Given the description of an element on the screen output the (x, y) to click on. 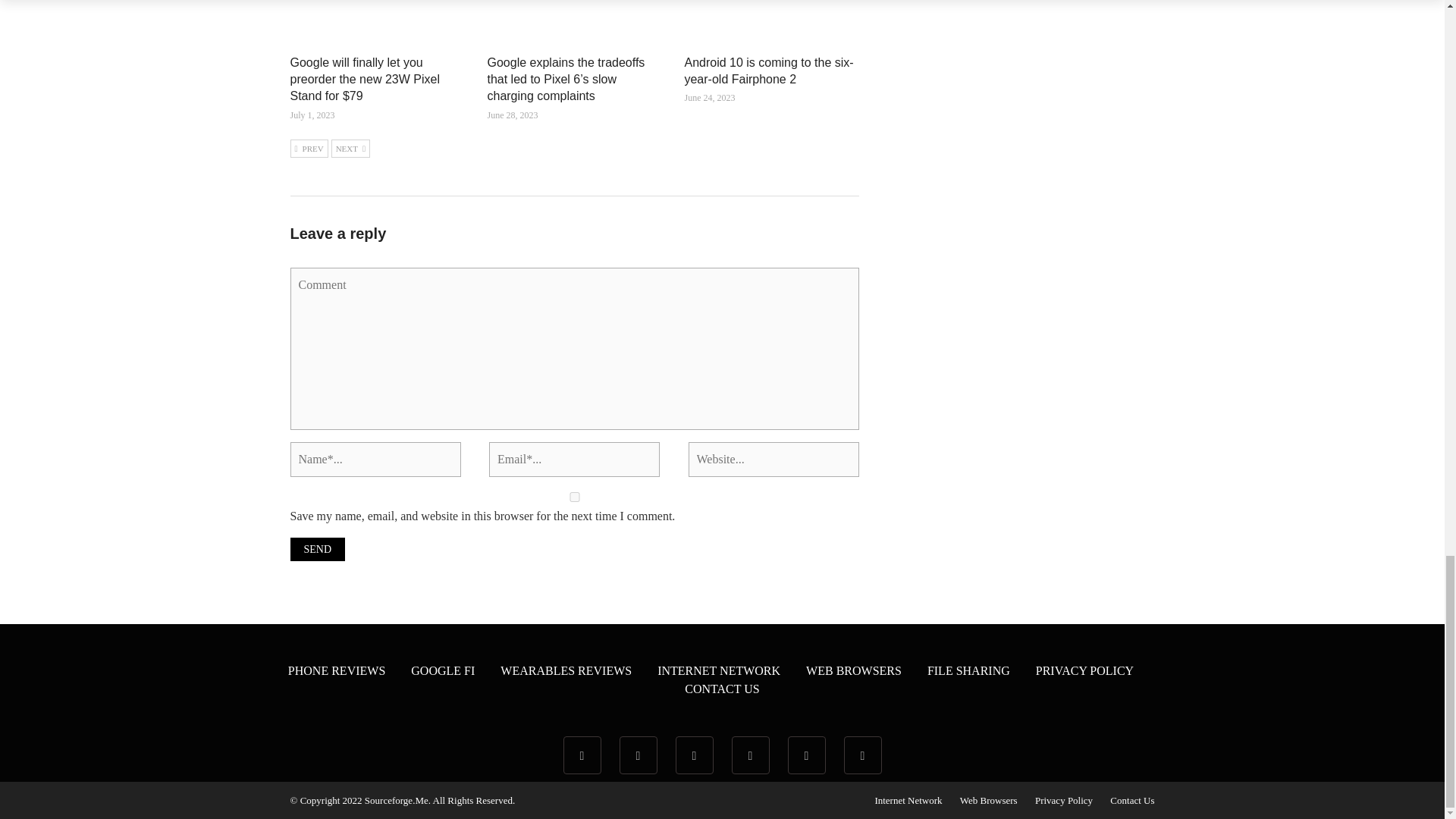
Send (317, 549)
yes (574, 497)
